Given the description of an element on the screen output the (x, y) to click on. 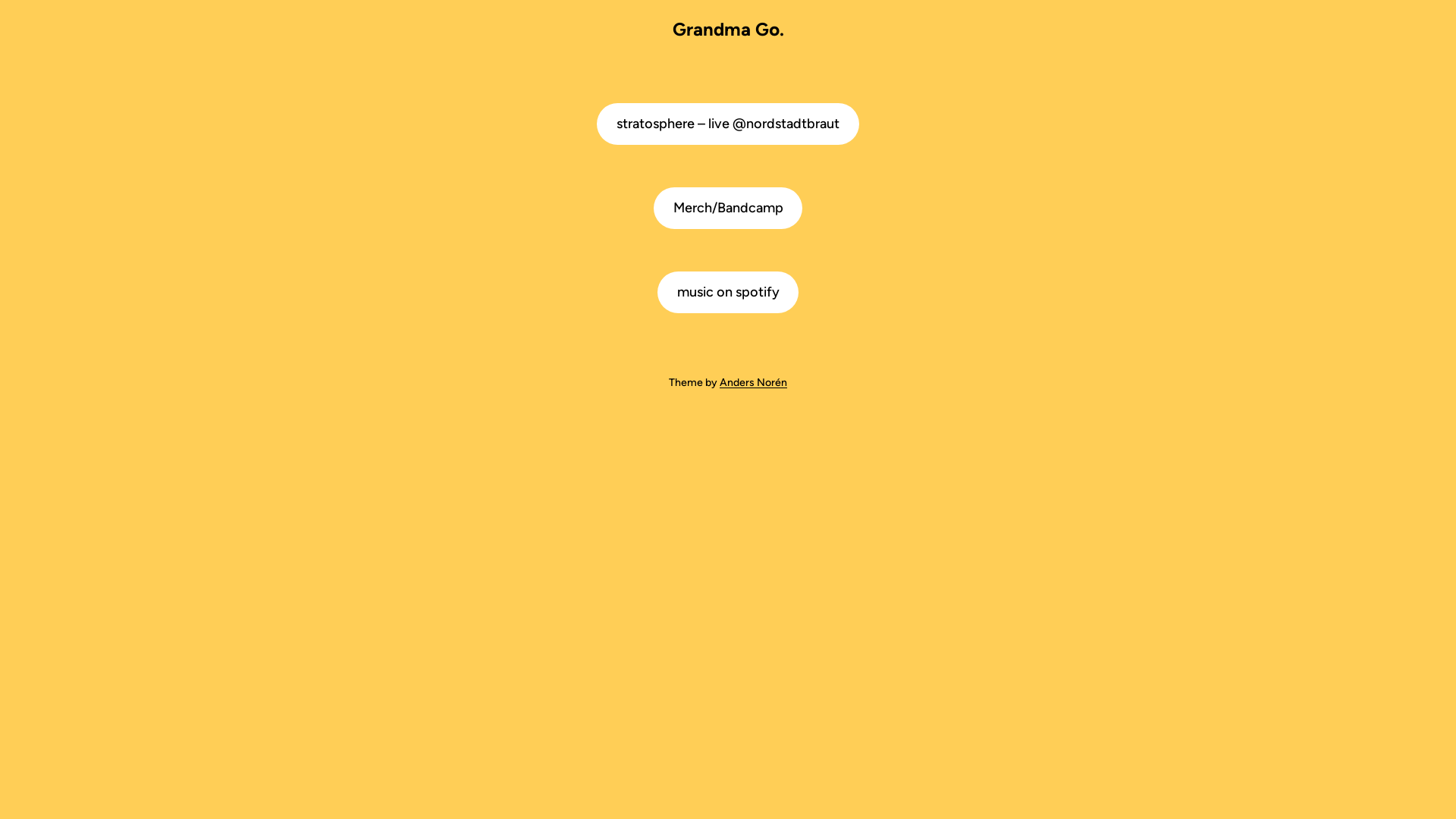
Grandma Go. Element type: text (727, 29)
Merch/Bandcamp Element type: text (728, 208)
music on spotify Element type: text (728, 292)
